Given the description of an element on the screen output the (x, y) to click on. 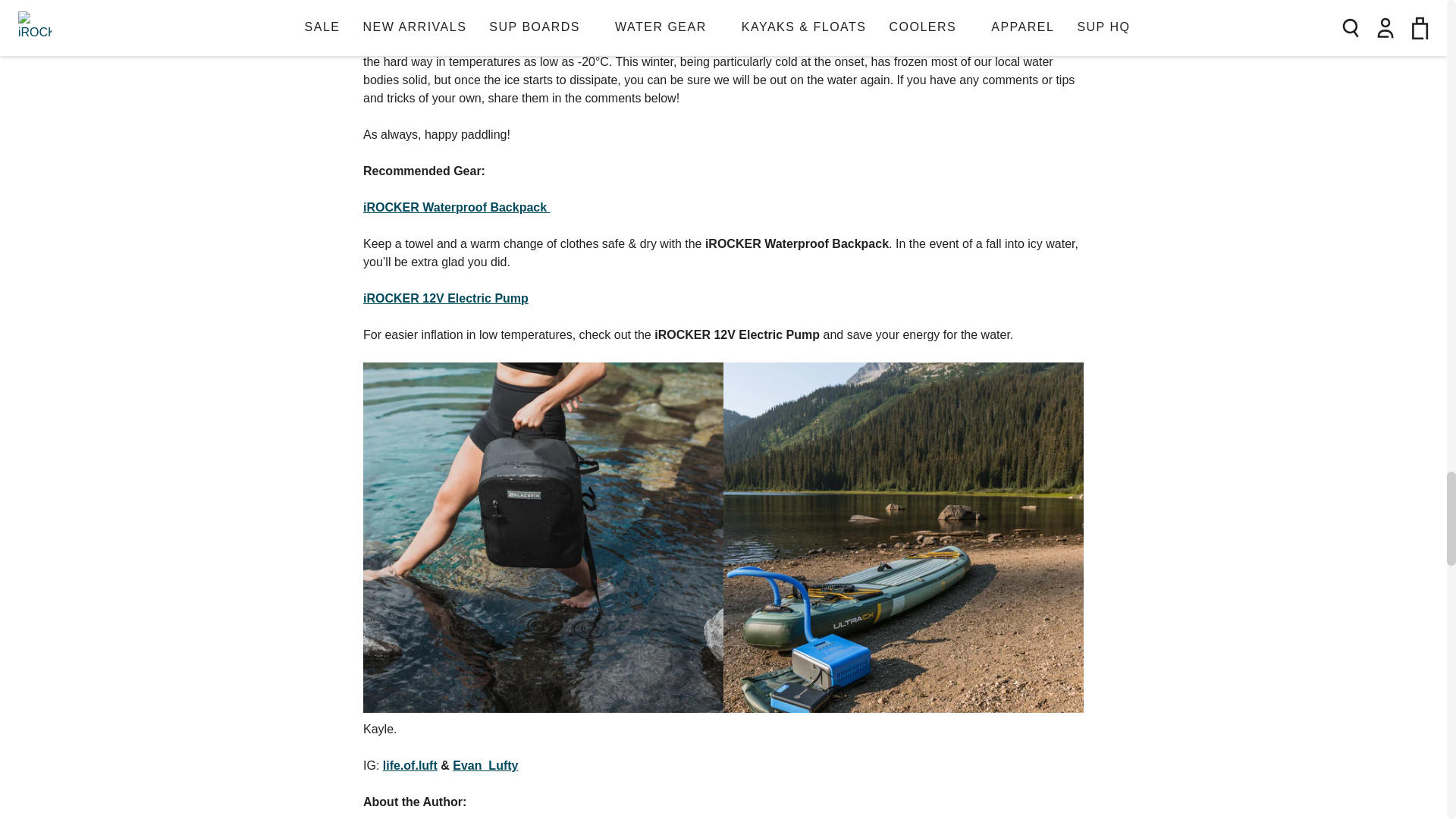
waterproof backpack (456, 206)
